Given the description of an element on the screen output the (x, y) to click on. 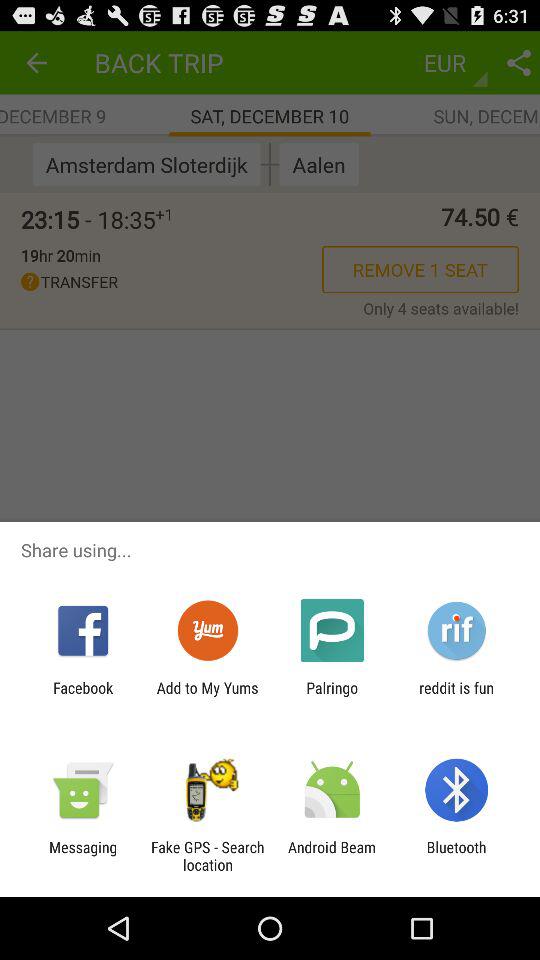
launch app to the left of reddit is fun icon (332, 696)
